Given the description of an element on the screen output the (x, y) to click on. 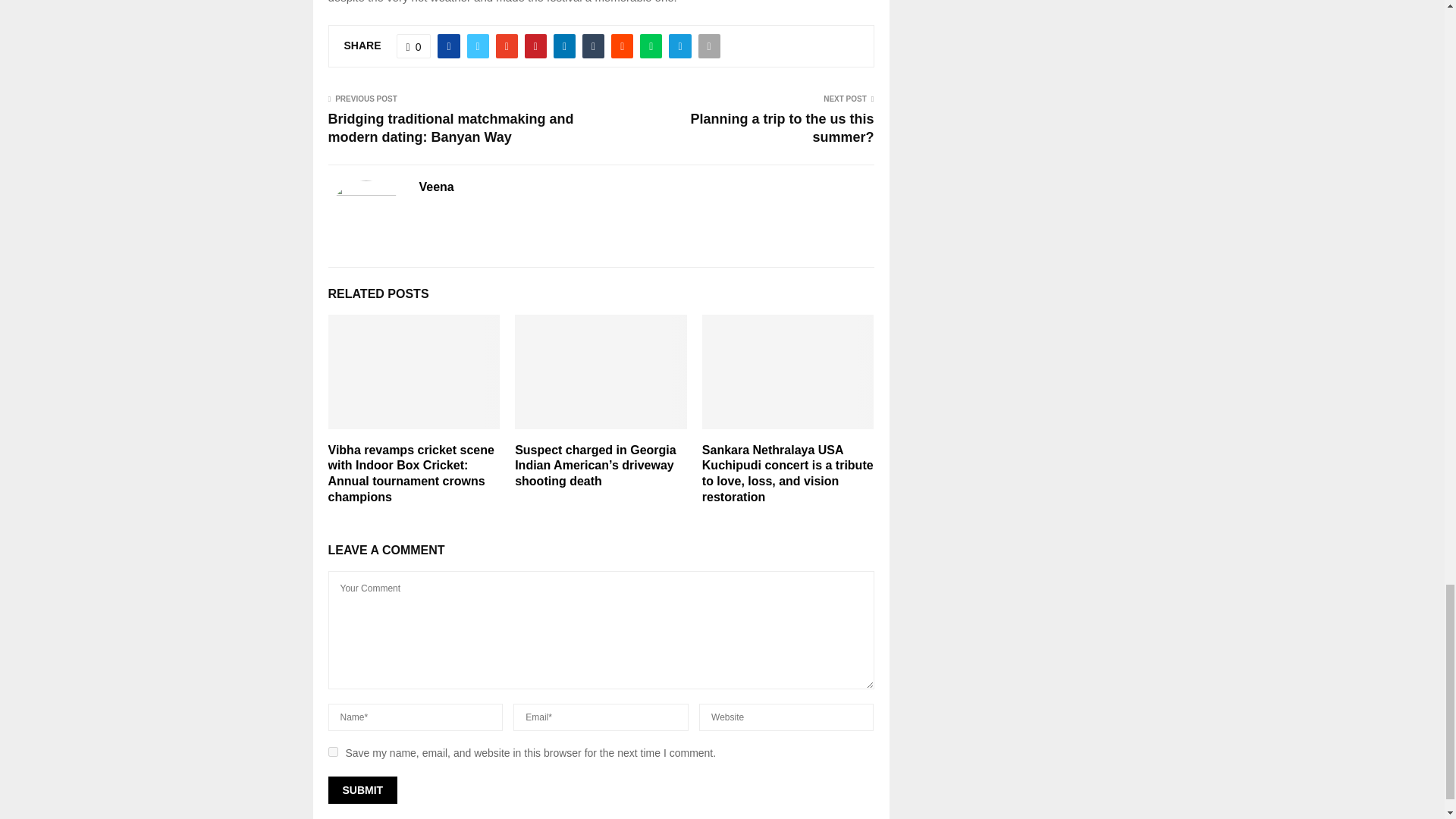
yes (332, 751)
Submit (362, 789)
